Given the description of an element on the screen output the (x, y) to click on. 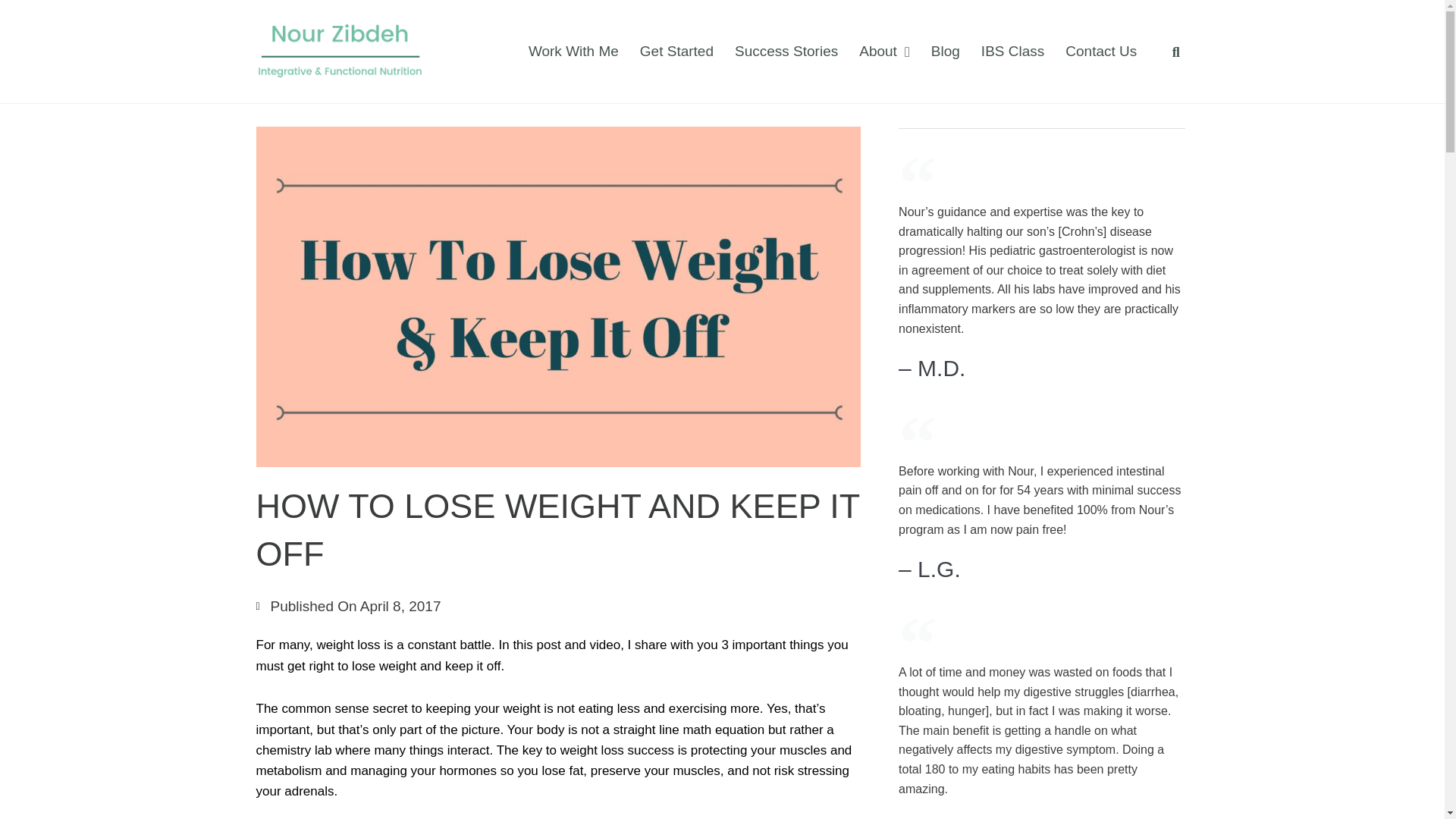
Work With Me (573, 51)
Success Stories (785, 51)
IBS Class (1012, 51)
Get Started (675, 51)
About (884, 51)
Contact Us (1100, 51)
Blog (945, 51)
